Given the description of an element on the screen output the (x, y) to click on. 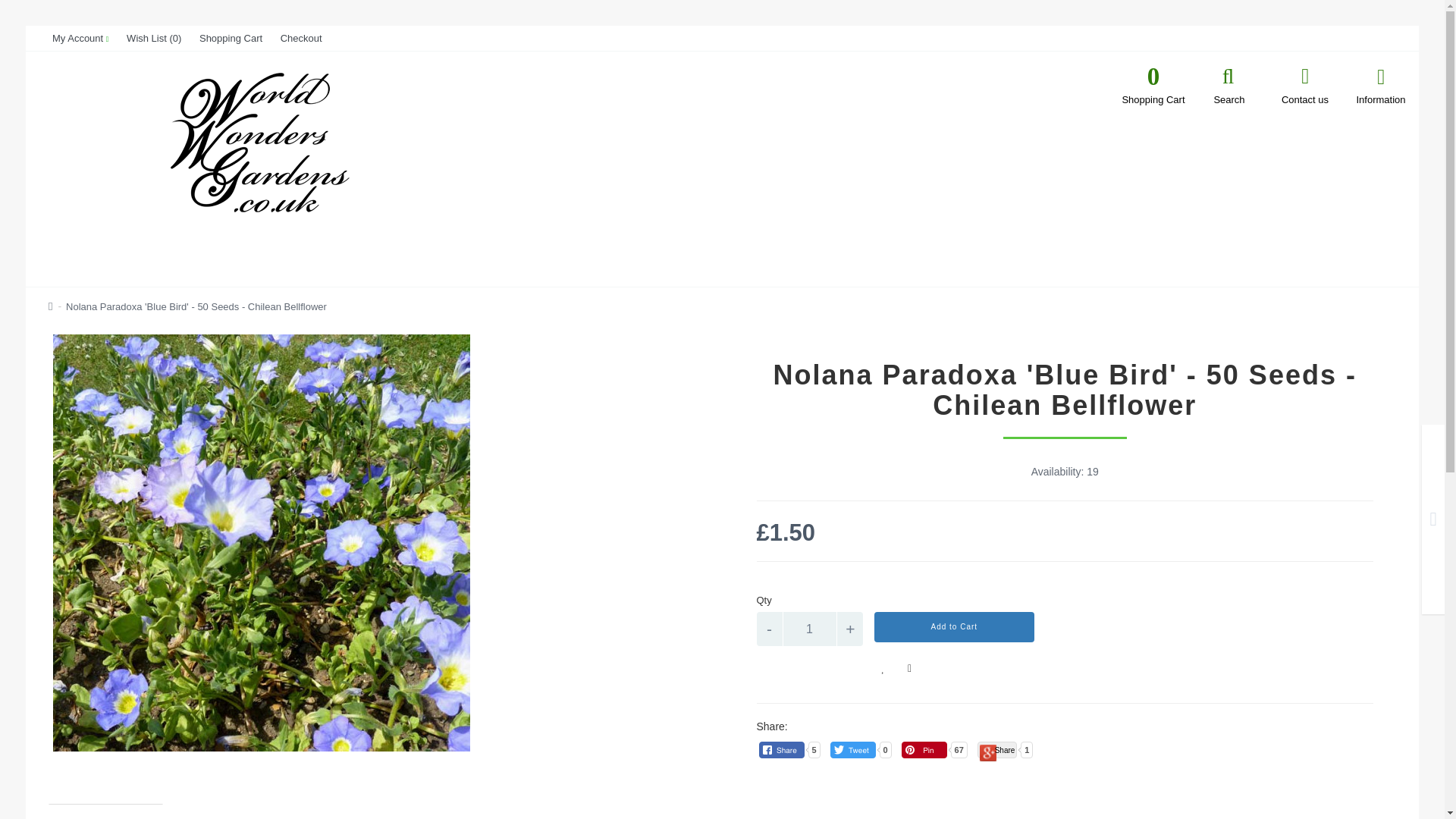
Genista Tinctoria - 50 Seeds - Dyer's Greenweed (1432, 521)
My Account (1153, 92)
Nolana Paradoxa 'Blue Bird' - 50 Seeds - Chilean Bellflower (79, 38)
 -  (953, 626)
My Account (770, 628)
Nolana Paradoxa 'Blue Bird' - 50 Seeds - Chilean Bellflower (79, 38)
Checkout (230, 38)
1 (301, 38)
Shopping Cart (809, 628)
Checkout (230, 38)
Nolana Paradoxa 'Blue Bird' - 50 Seeds - Chilean Bellflower (301, 38)
World Wonders Gardens - Seed Specialist (195, 306)
